Given the description of an element on the screen output the (x, y) to click on. 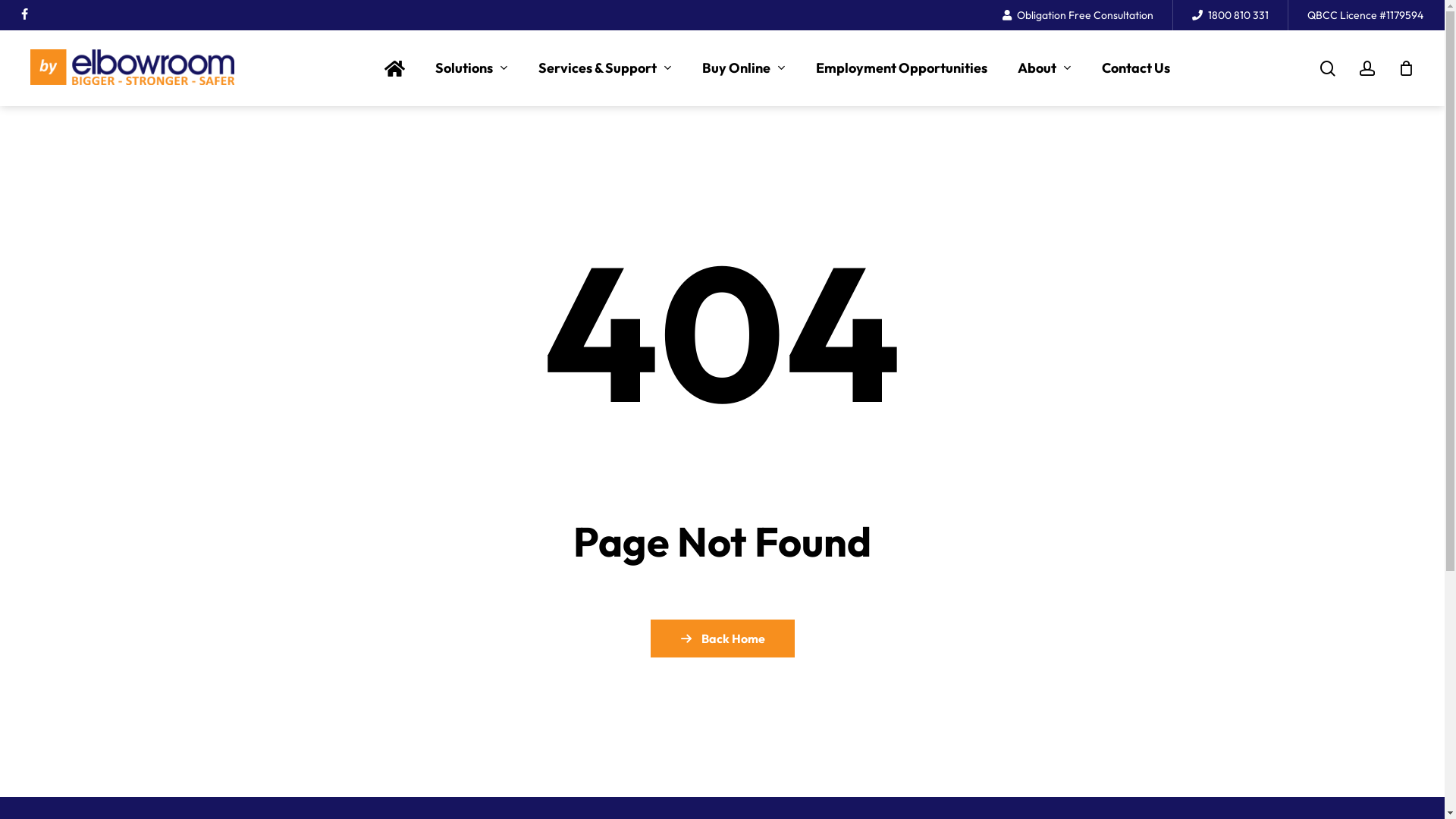
Employment Opportunities Element type: text (901, 68)
Back Home Element type: text (722, 638)
QBCC Licence #1179594 Element type: text (1365, 14)
Buy Online Element type: text (743, 68)
Services & Support Element type: text (605, 68)
Obligation Free Consultation Element type: text (1077, 14)
facebook Element type: text (24, 14)
search Element type: text (1327, 68)
1800 810 331 Element type: text (1230, 14)
Solutions Element type: text (471, 68)
About Element type: text (1044, 68)
account Element type: text (1367, 68)
Contact Us Element type: text (1135, 68)
linkedin Element type: text (49, 14)
